Given the description of an element on the screen output the (x, y) to click on. 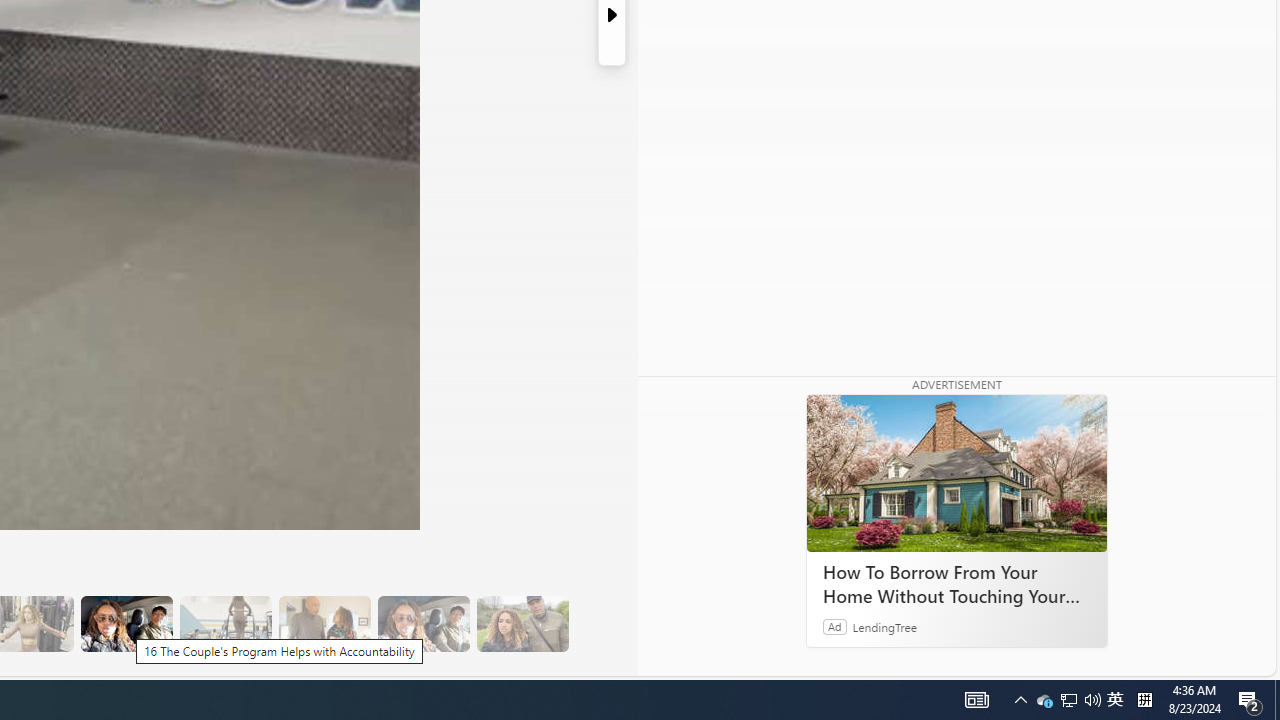
16 The Couple's Program Helps with Accountability (125, 624)
See more (741, 660)
Ad (835, 626)
How To Borrow From Your Home Without Touching Your Mortgage (956, 583)
16 The Couple's Program Helps with Accountability (125, 624)
19 It Also Simplifies Thiings (423, 624)
18 It's More Fun Doing It with Someone Else (324, 624)
How To Borrow From Your Home Without Touching Your Mortgage (956, 473)
LendingTree (884, 626)
20 Overall, It Will Improve Your Health (522, 624)
19 It Also Simplifies Thiings (423, 624)
18 It's More Fun Doing It with Someone Else (324, 624)
Feedback (1199, 659)
